Given the description of an element on the screen output the (x, y) to click on. 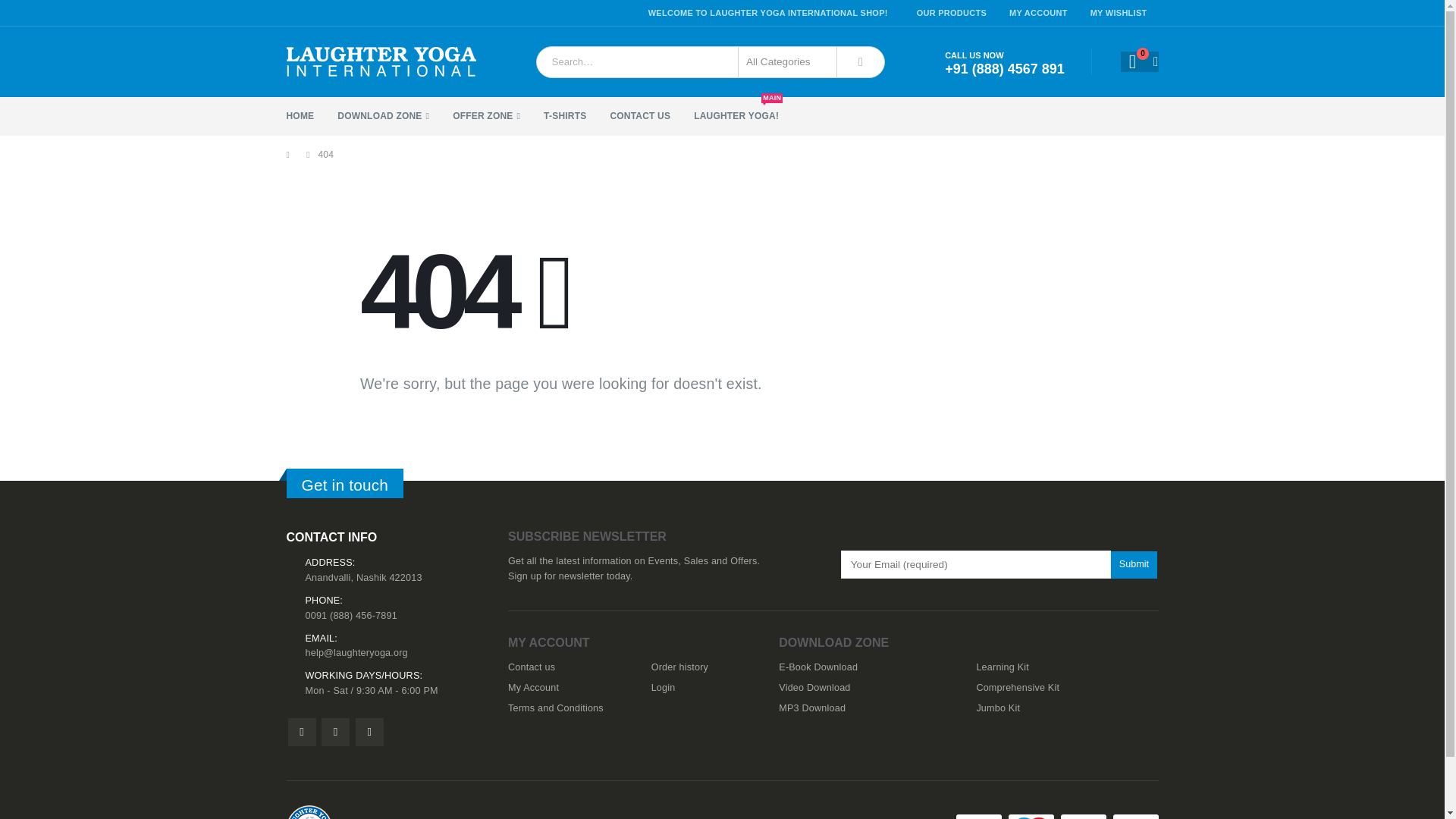
MP3 Download (811, 707)
OFFER ZONE (497, 116)
Contact us (531, 666)
Learning Kit (1002, 666)
Order history (678, 666)
My Account (533, 687)
Terms and Conditions (556, 707)
Submit (1133, 564)
MY ACCOUNT (1037, 12)
Terms and Conditions (556, 707)
